Given the description of an element on the screen output the (x, y) to click on. 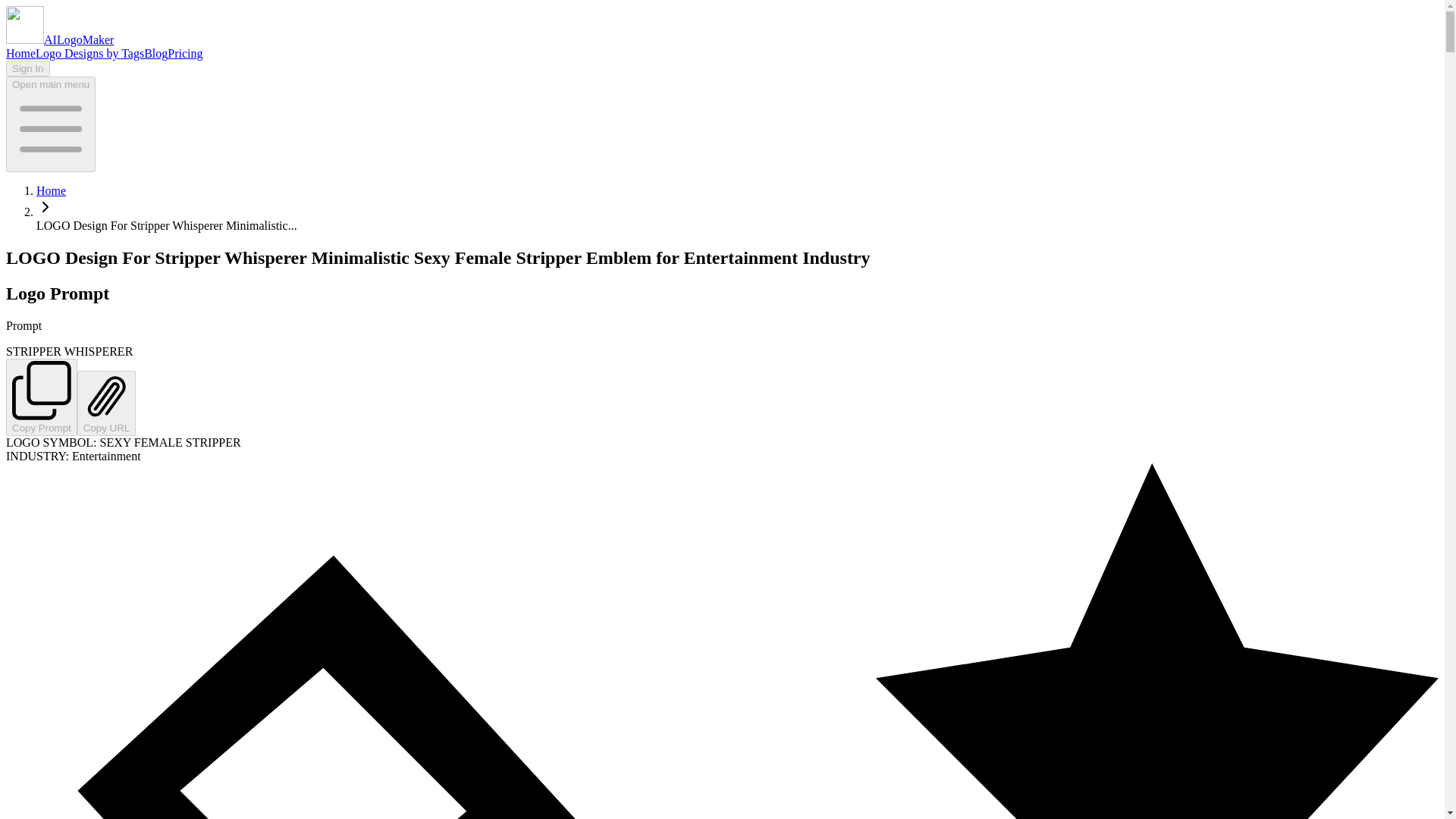
Open main menu (50, 123)
Copy Prompt (41, 396)
Home (19, 52)
Copy URL (106, 402)
AILogoMaker (59, 39)
Logo Designs by Tags (89, 52)
Blog (155, 52)
Sign In (27, 68)
Pricing (184, 52)
Home (50, 190)
